Given the description of an element on the screen output the (x, y) to click on. 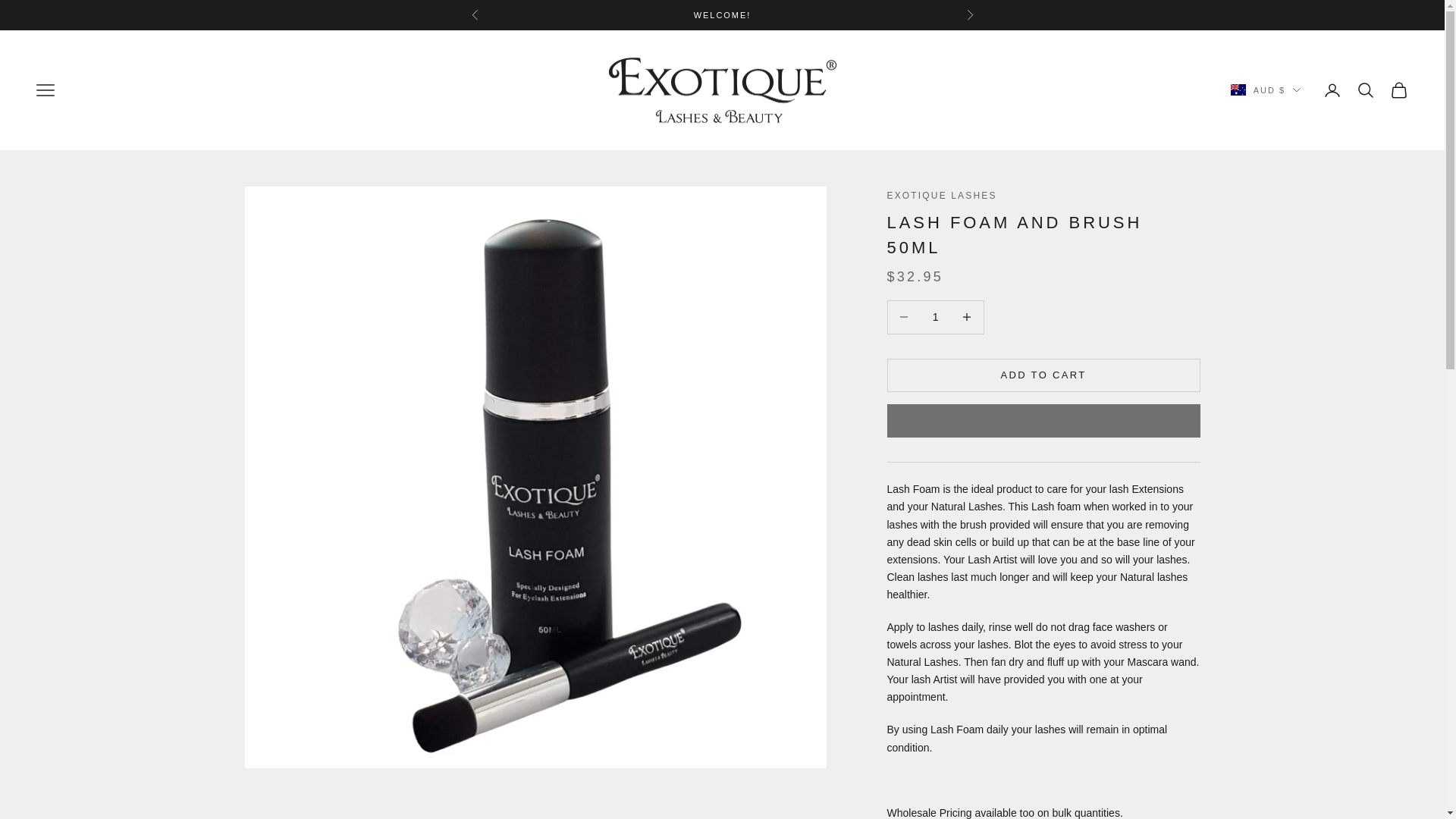
Exotique Lashes (721, 90)
1 (935, 317)
Open navigation menu (45, 90)
